Given the description of an element on the screen output the (x, y) to click on. 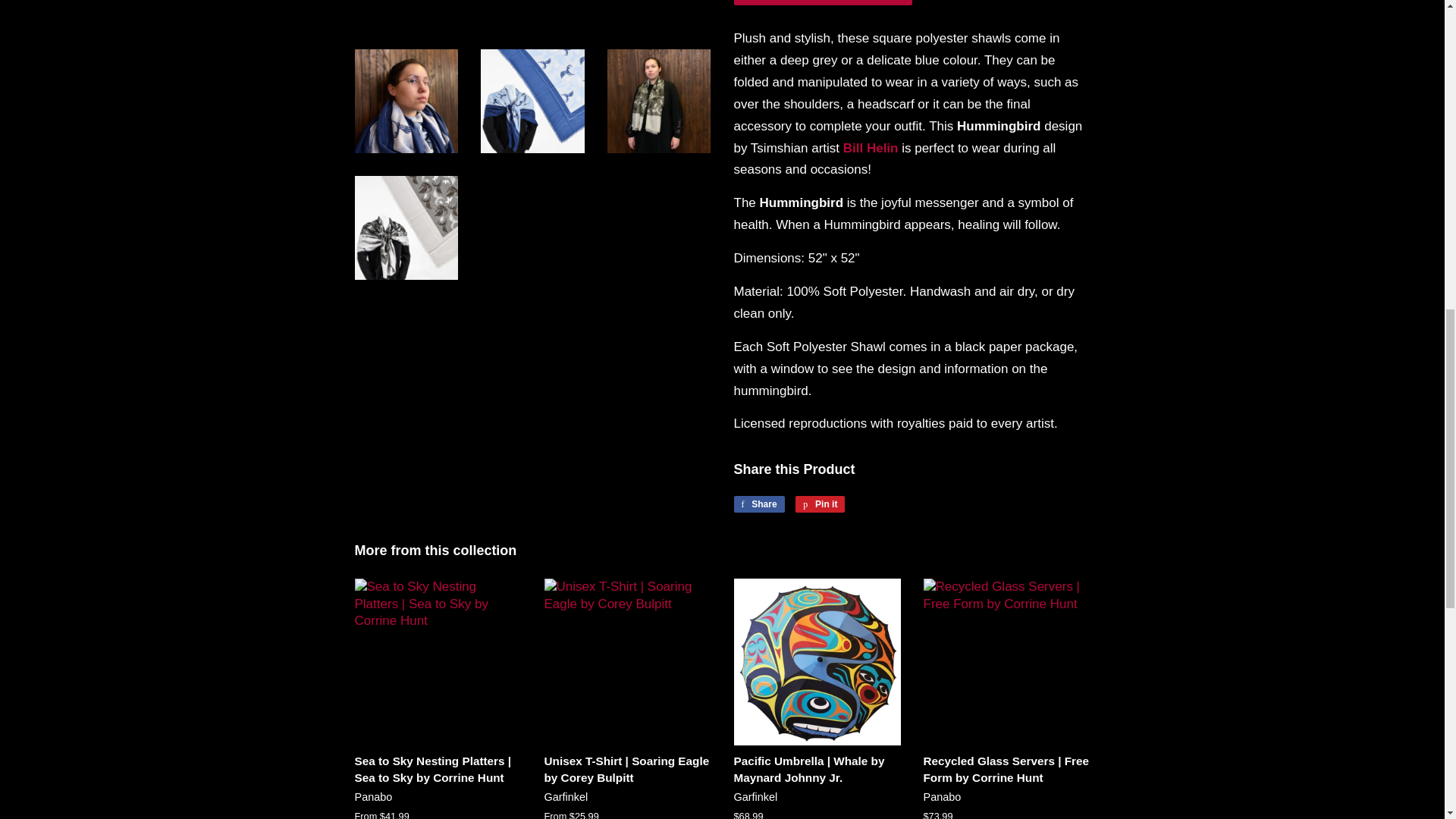
Bill Helin (870, 147)
Share on Facebook (758, 504)
Pin on Pinterest (819, 504)
